Given the description of an element on the screen output the (x, y) to click on. 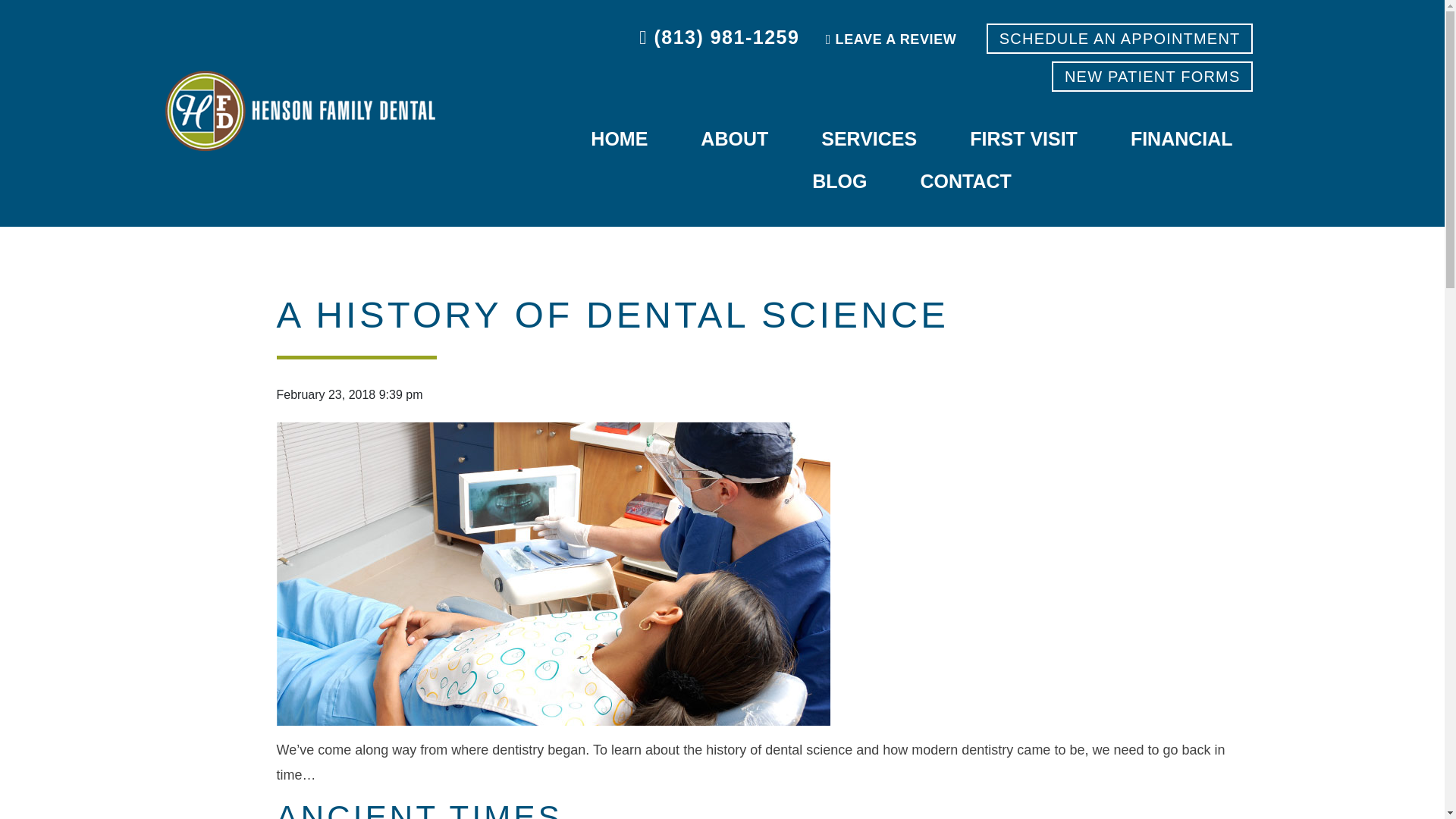
FIRST VISIT (1023, 139)
HOME (619, 139)
NEW PATIENT FORMS (1152, 76)
SERVICES (869, 139)
FINANCIAL (1182, 139)
BLOG (839, 181)
LEAVE A REVIEW (890, 38)
ABOUT (734, 139)
SCHEDULE AN APPOINTMENT (1120, 38)
CONTACT (965, 181)
